Given the description of an element on the screen output the (x, y) to click on. 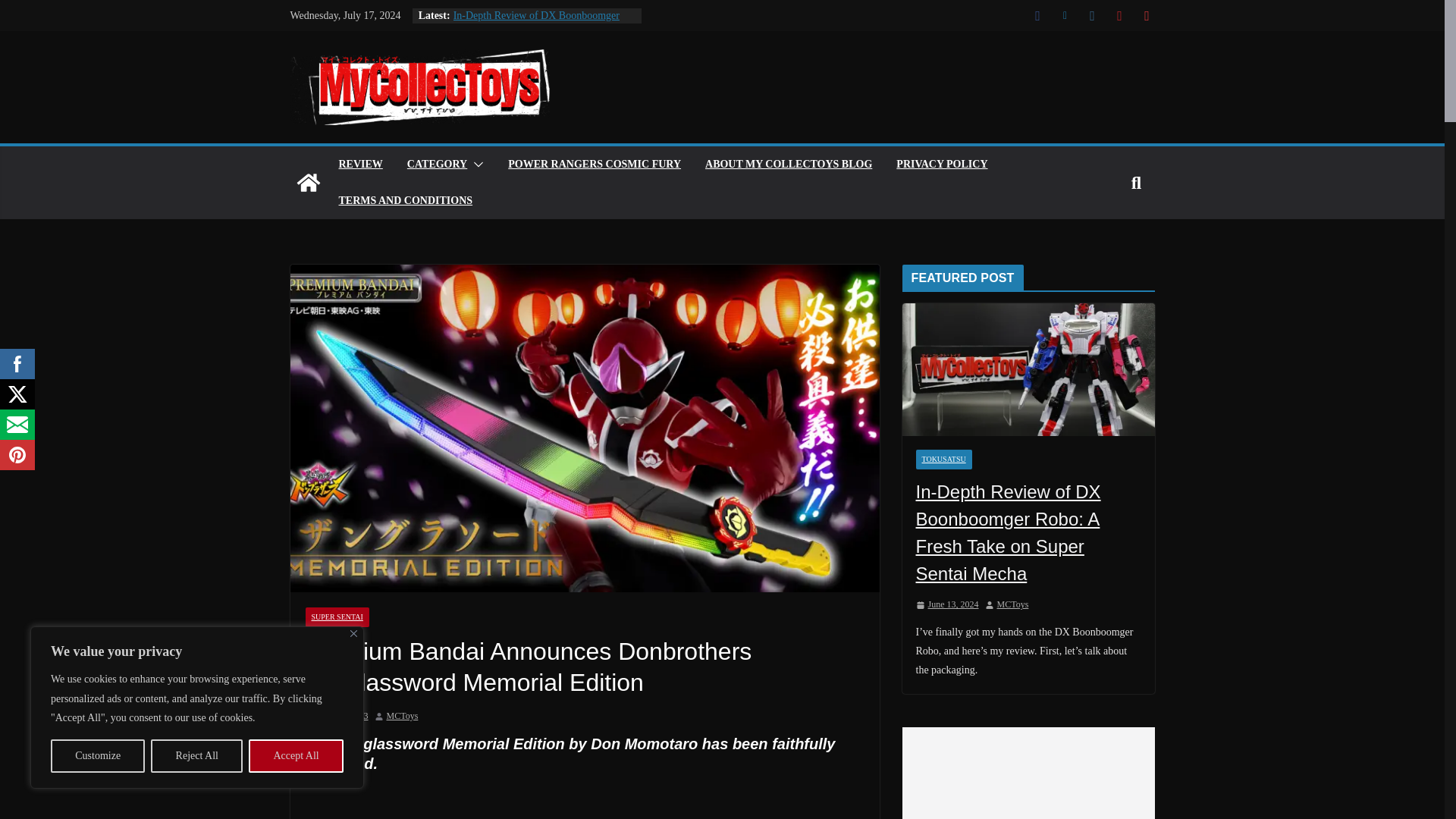
REVIEW (359, 164)
Reject All (197, 756)
ABOUT MY COLLECTOYS BLOG (788, 164)
7:20 am (336, 716)
Customize (97, 756)
POWER RANGERS COSMIC FURY (594, 164)
CATEGORY (437, 164)
MyCollecToys (307, 182)
PRIVACY POLICY (941, 164)
MCToys (403, 716)
Accept All (295, 756)
